Given the description of an element on the screen output the (x, y) to click on. 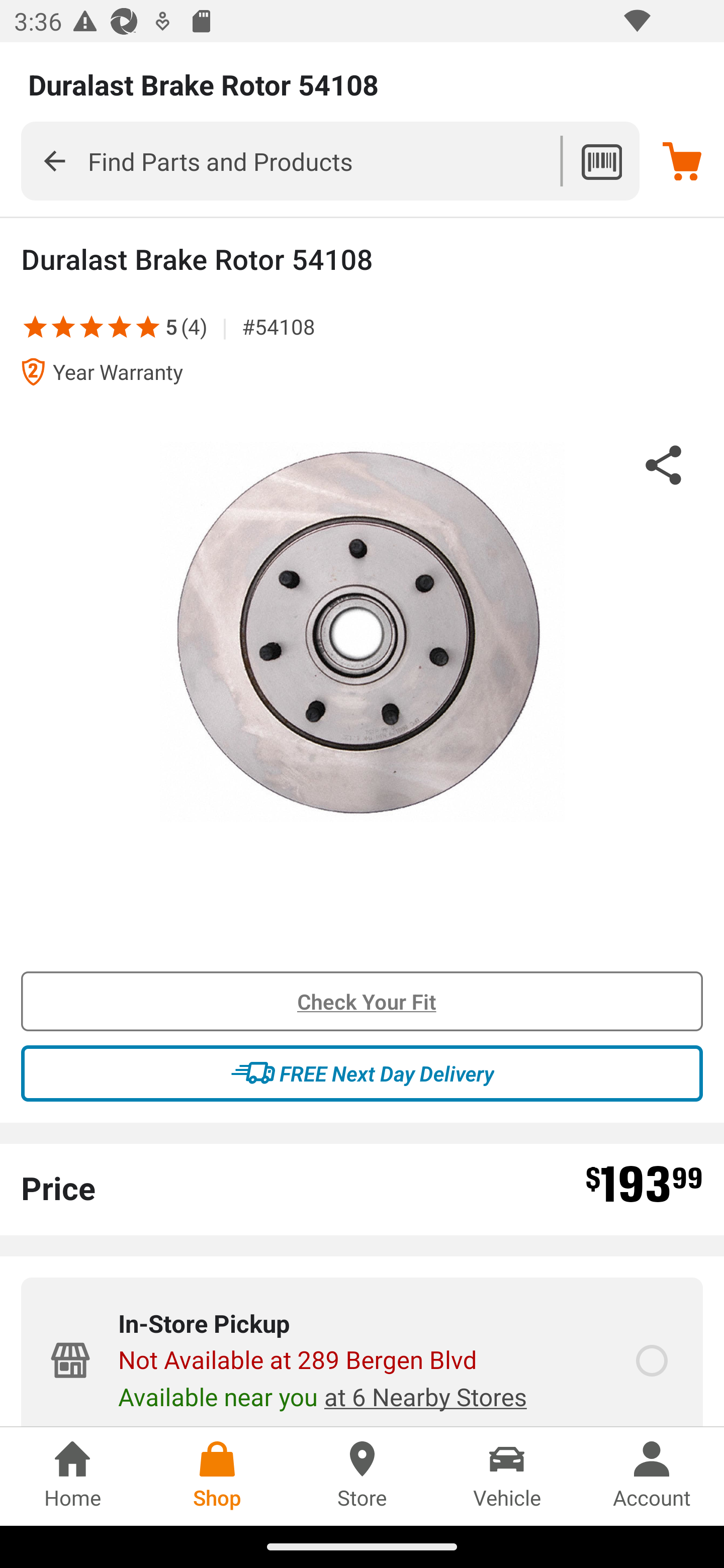
 scan-product-to-search  (601, 161)
 (54, 160)
Cart, no items  (681, 160)
 (34, 326)
 (63, 326)
 (91, 326)
 (119, 326)
 (147, 326)
share button (663, 468)
Check your fit Check Your Fit (361, 1001)
In-Store Pickup (651, 1360)
Home (72, 1475)
Shop (216, 1475)
Store (361, 1475)
Vehicle (506, 1475)
Account (651, 1475)
